Given the description of an element on the screen output the (x, y) to click on. 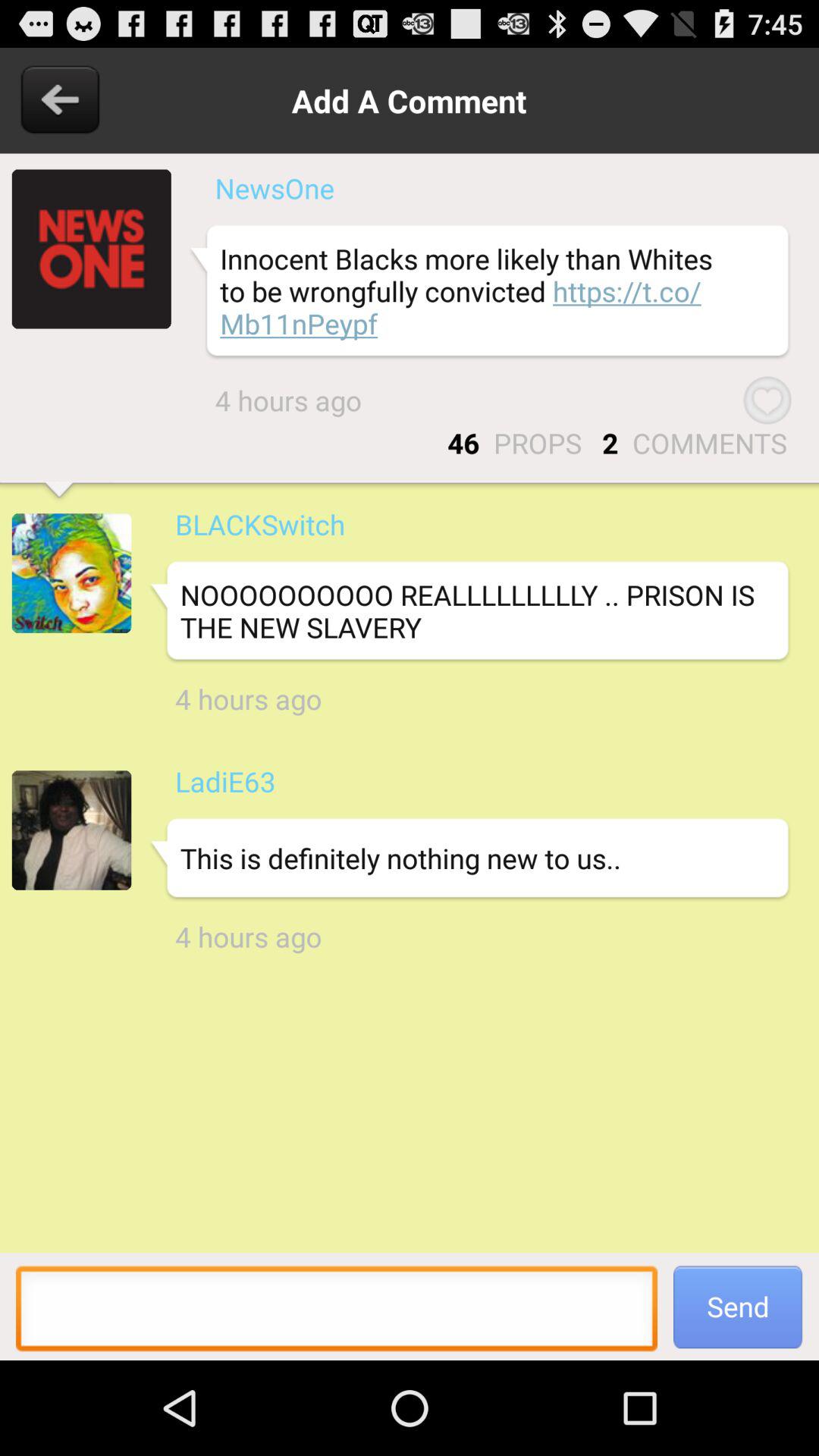
open app to the right of the 4 hours ago icon (767, 400)
